Given the description of an element on the screen output the (x, y) to click on. 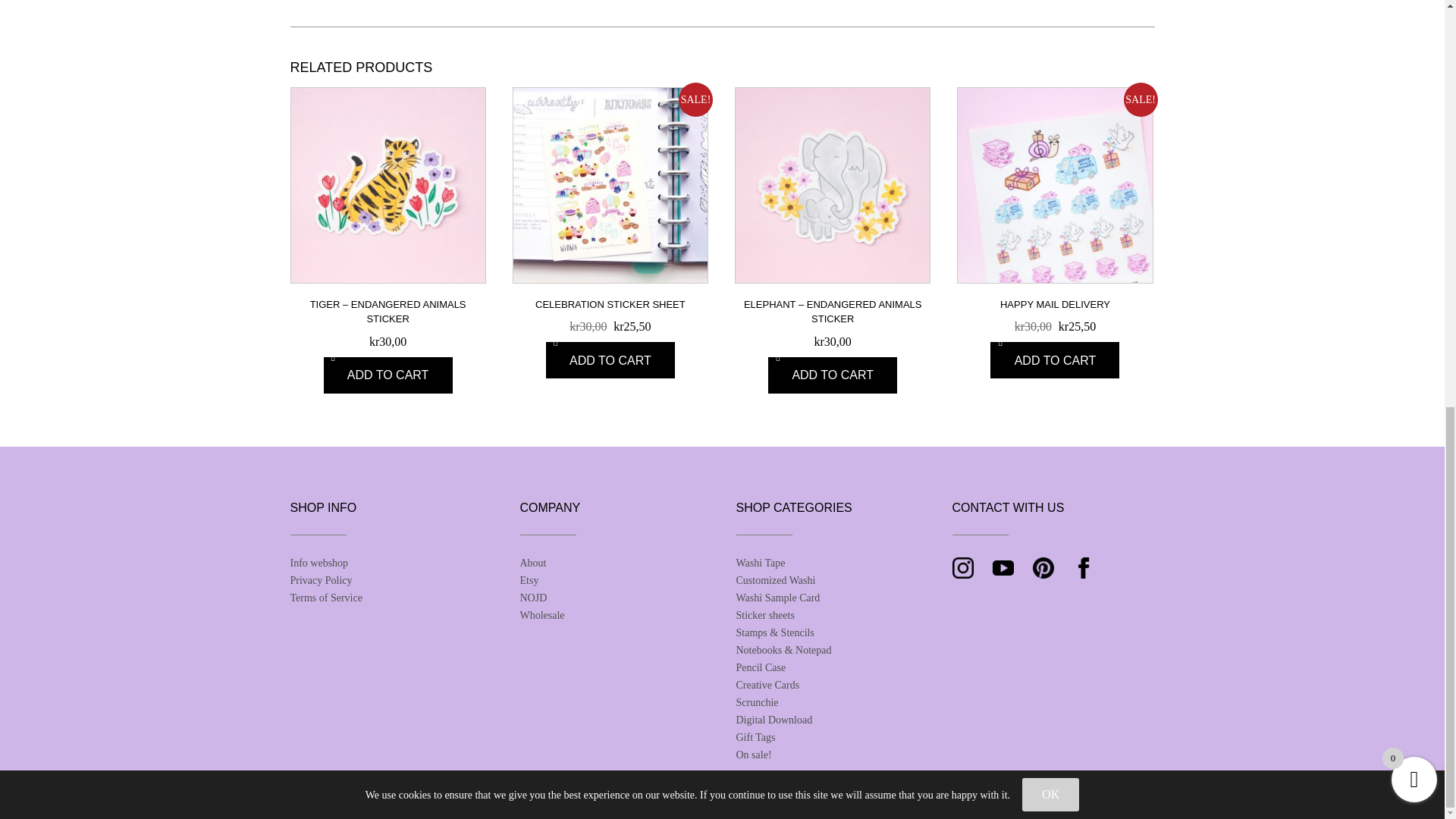
 FACEBOOK (1082, 567)
 Pinterest (1043, 567)
 youtube (1002, 567)
 Instagram (963, 567)
